Given the description of an element on the screen output the (x, y) to click on. 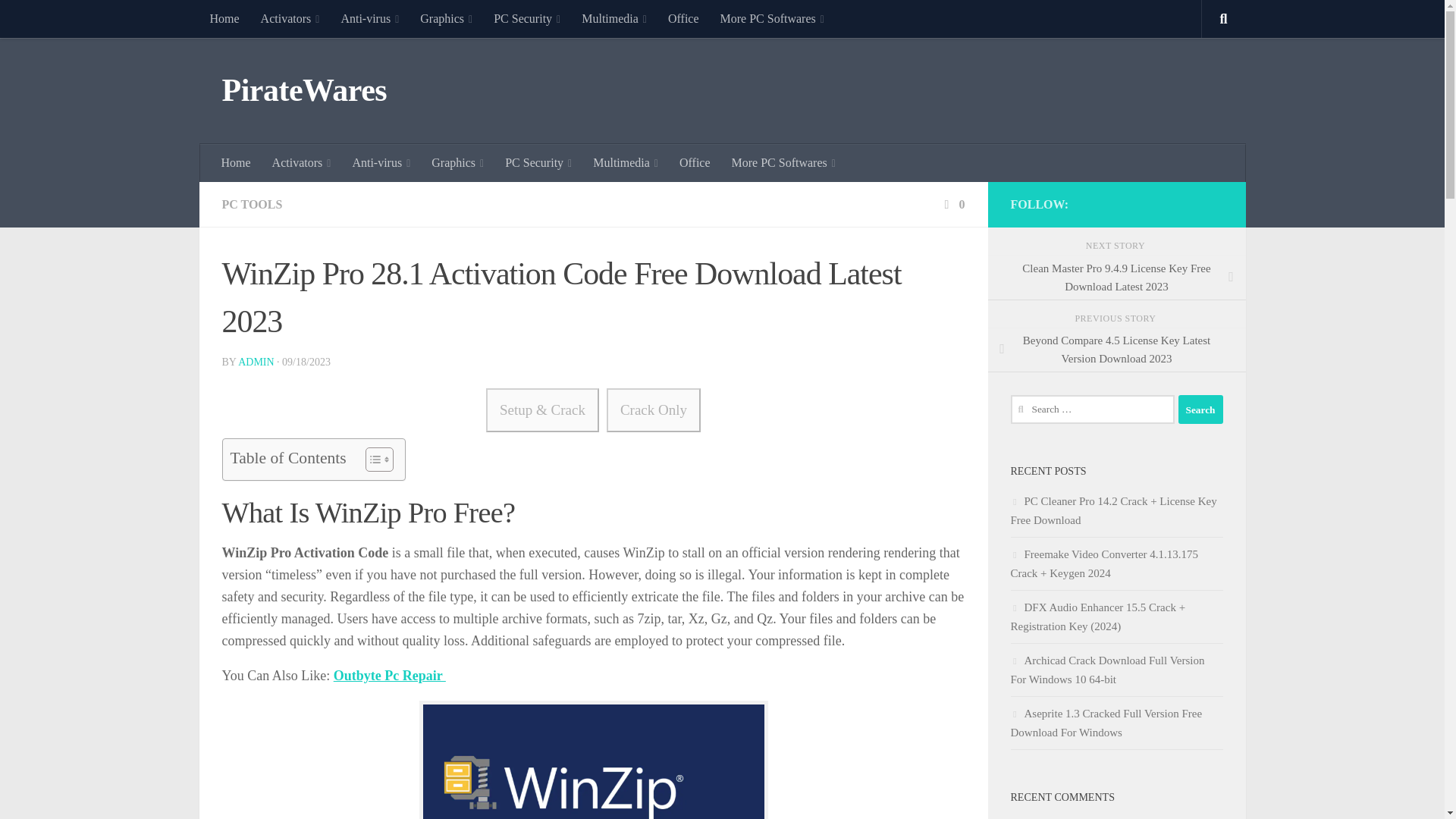
Posts by admin (255, 361)
Search (1200, 409)
Search (1200, 409)
Skip to content (59, 20)
